Given the description of an element on the screen output the (x, y) to click on. 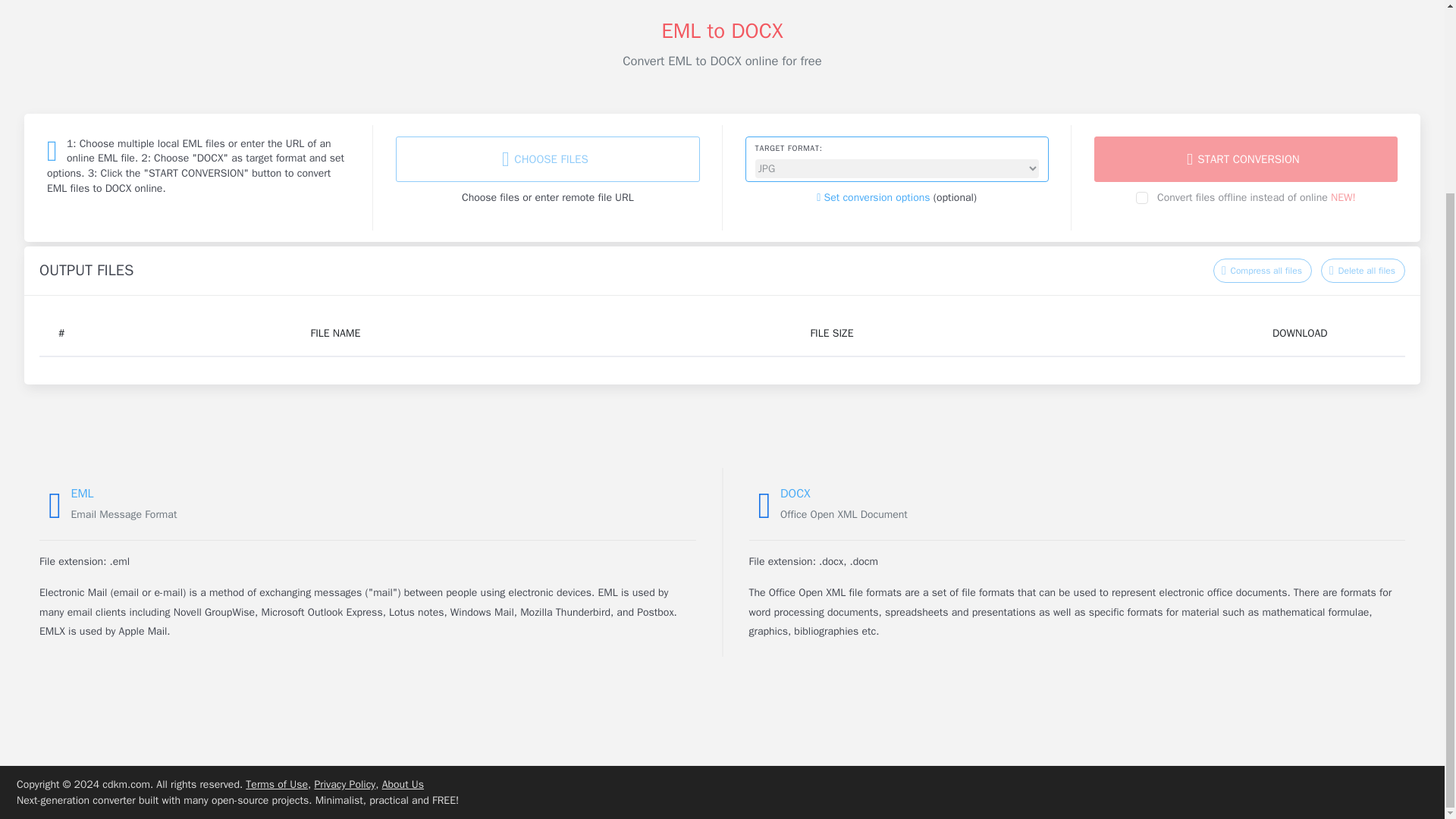
enter remote file URL (583, 196)
Advertisement (721, 8)
DOCX (795, 493)
START CONVERSION (1245, 158)
Compress all files (1261, 270)
EML (82, 493)
CHOOSE FILES (547, 158)
Delete all files (1362, 270)
Set conversion options (873, 196)
